Given the description of an element on the screen output the (x, y) to click on. 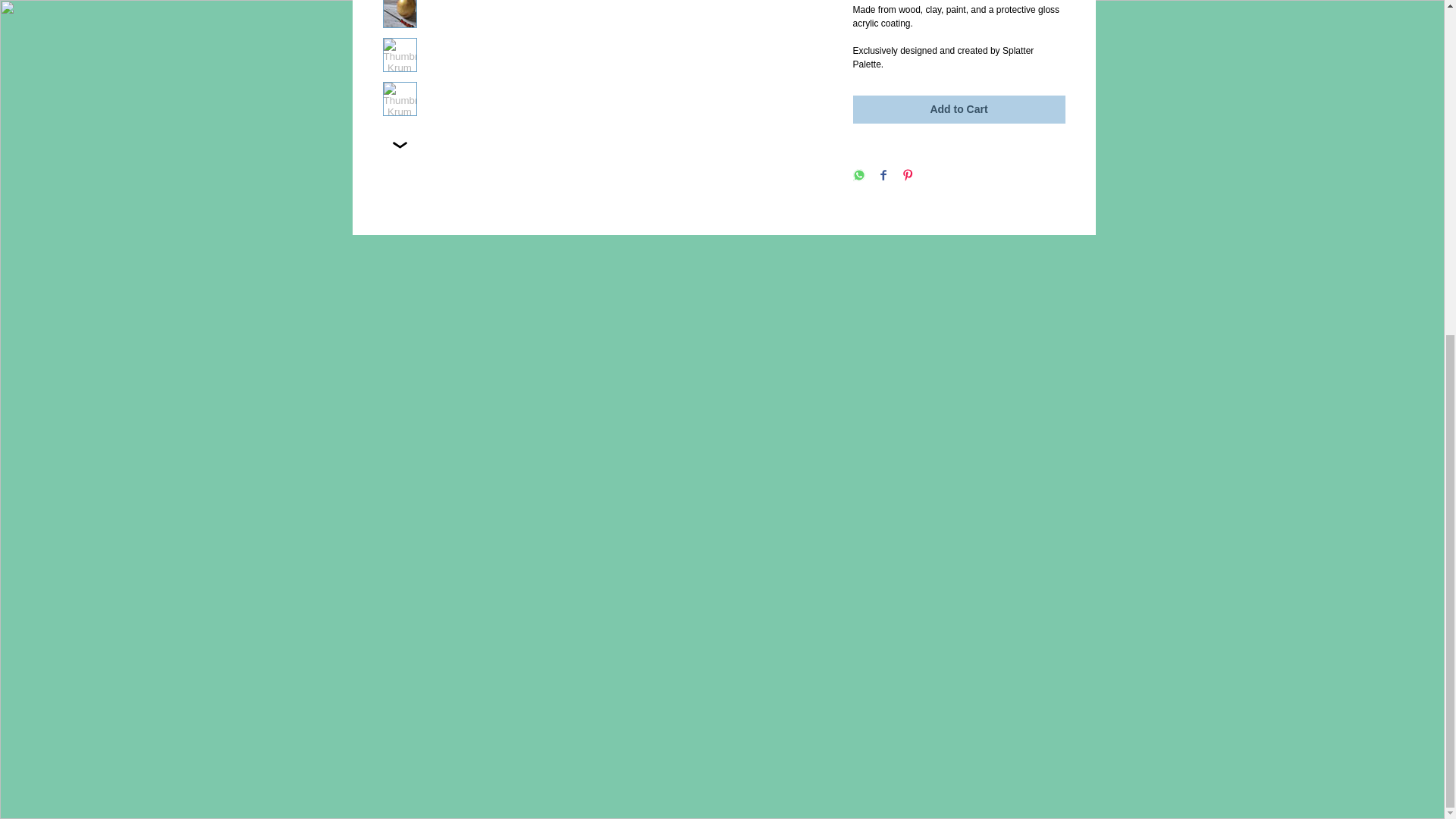
Add to Cart (957, 109)
